Given the description of an element on the screen output the (x, y) to click on. 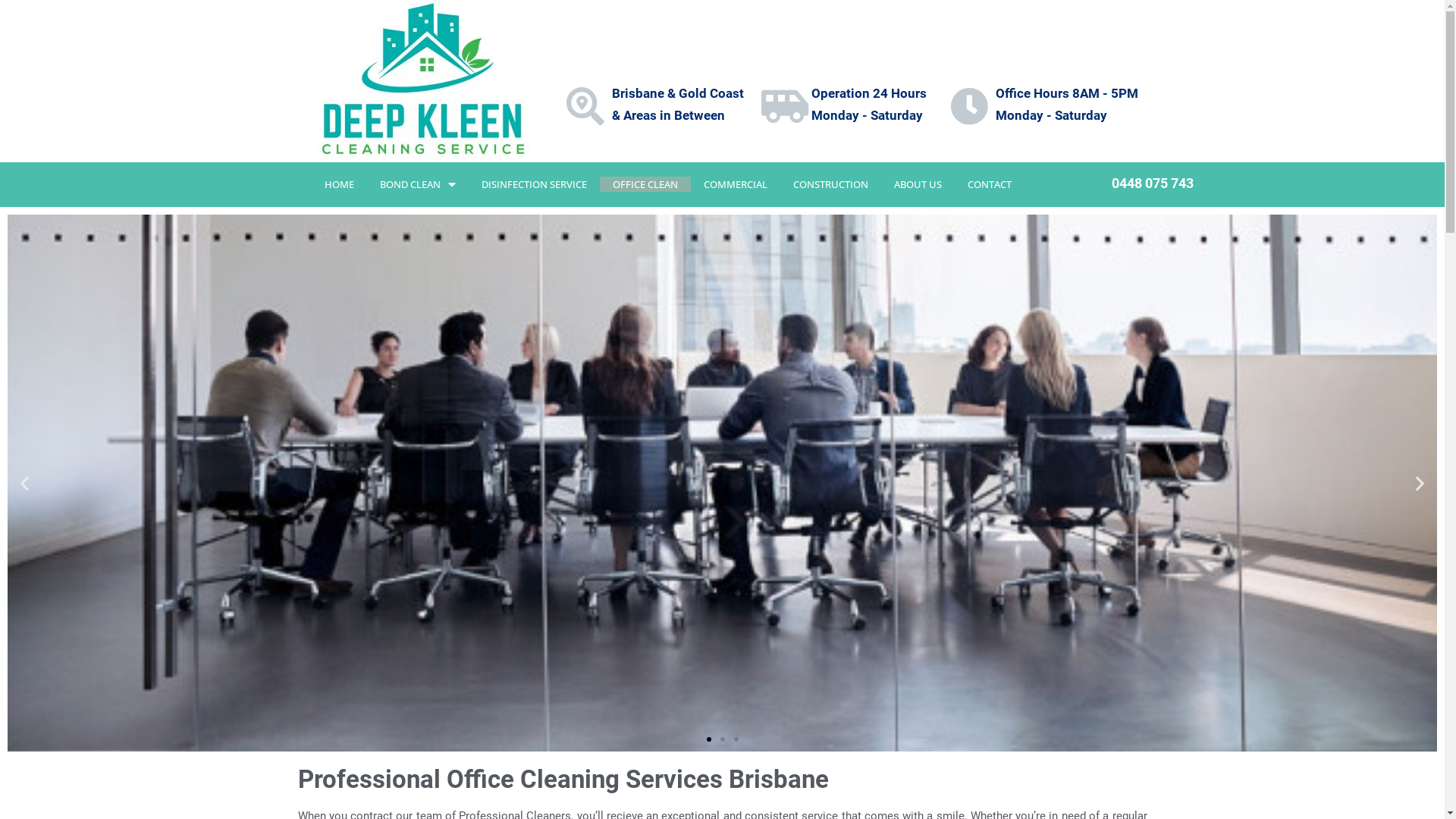
OFFICE CLEAN Element type: text (644, 183)
CONTACT Element type: text (989, 183)
COMMERCIAL Element type: text (735, 183)
ABOUT US Element type: text (917, 183)
BOND CLEAN Element type: text (417, 183)
DISINFECTION SERVICE Element type: text (533, 183)
HOME Element type: text (339, 183)
CONSTRUCTION Element type: text (830, 183)
